Given the description of an element on the screen output the (x, y) to click on. 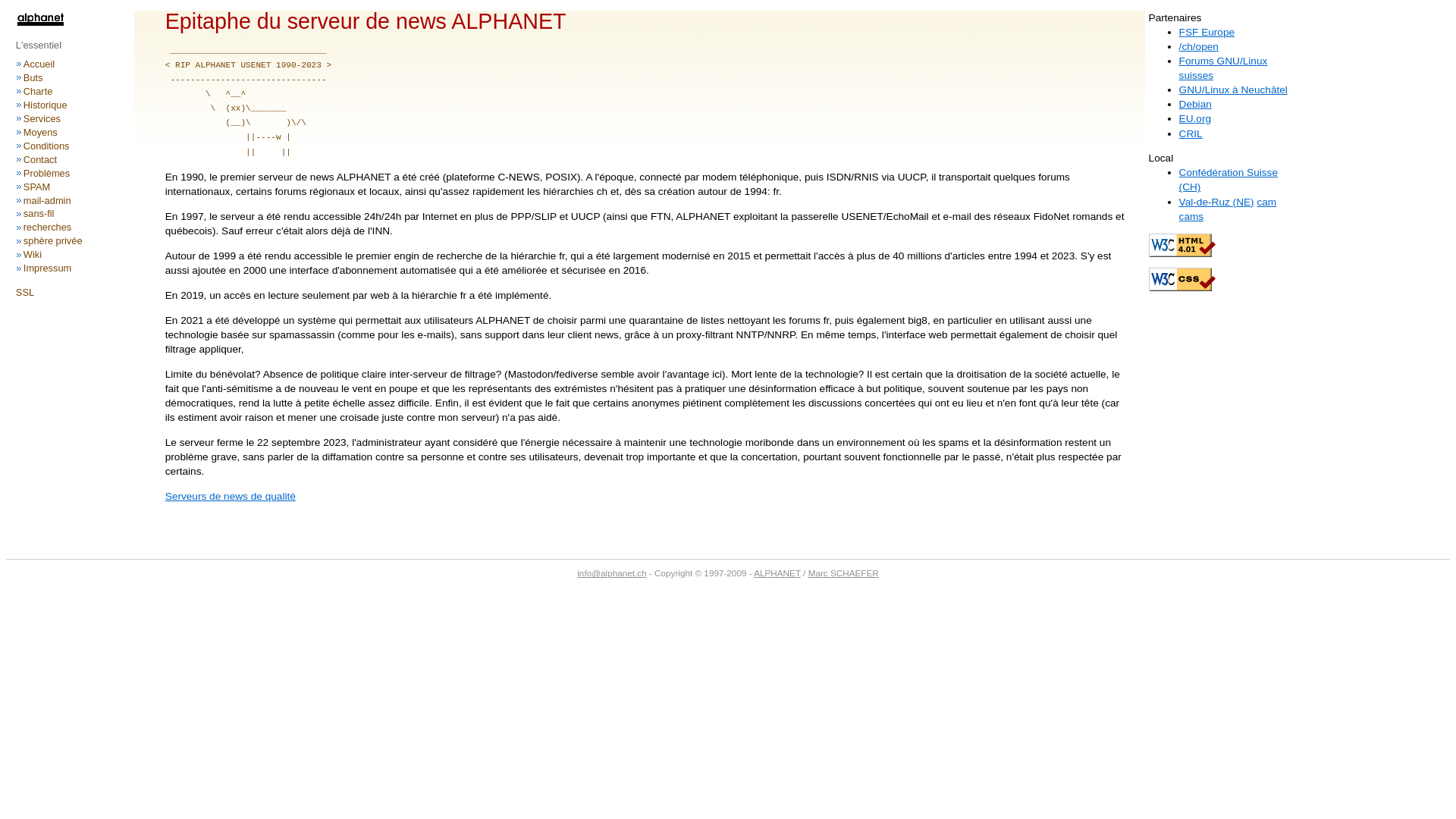
Debian Element type: text (1195, 103)
mail-admin Element type: text (47, 200)
ALPHANET Element type: text (776, 572)
Marc SCHAEFER Element type: text (843, 572)
Forums GNU/Linux suisses Element type: text (1223, 68)
Historique Element type: text (45, 104)
recherches Element type: text (47, 226)
Accueil Element type: text (38, 63)
Buts Element type: text (33, 77)
CRIL Element type: text (1190, 133)
Wiki Element type: text (32, 254)
SSL Element type: text (24, 292)
Moyens Element type: text (40, 132)
cam Element type: text (1266, 201)
/ch/open Element type: text (1198, 46)
Charte Element type: text (38, 91)
Val-de-Ruz (NE) Element type: text (1216, 201)
EU.org Element type: text (1195, 118)
sans-fil Element type: text (38, 213)
Contact Element type: text (39, 159)
SPAM Element type: text (36, 186)
Services Element type: text (41, 118)
Conditions Element type: text (46, 145)
Impressum Element type: text (47, 267)
cams Element type: text (1191, 216)
info@alphanet.ch Element type: text (611, 572)
FSF Europe Element type: text (1207, 31)
